Given the description of an element on the screen output the (x, y) to click on. 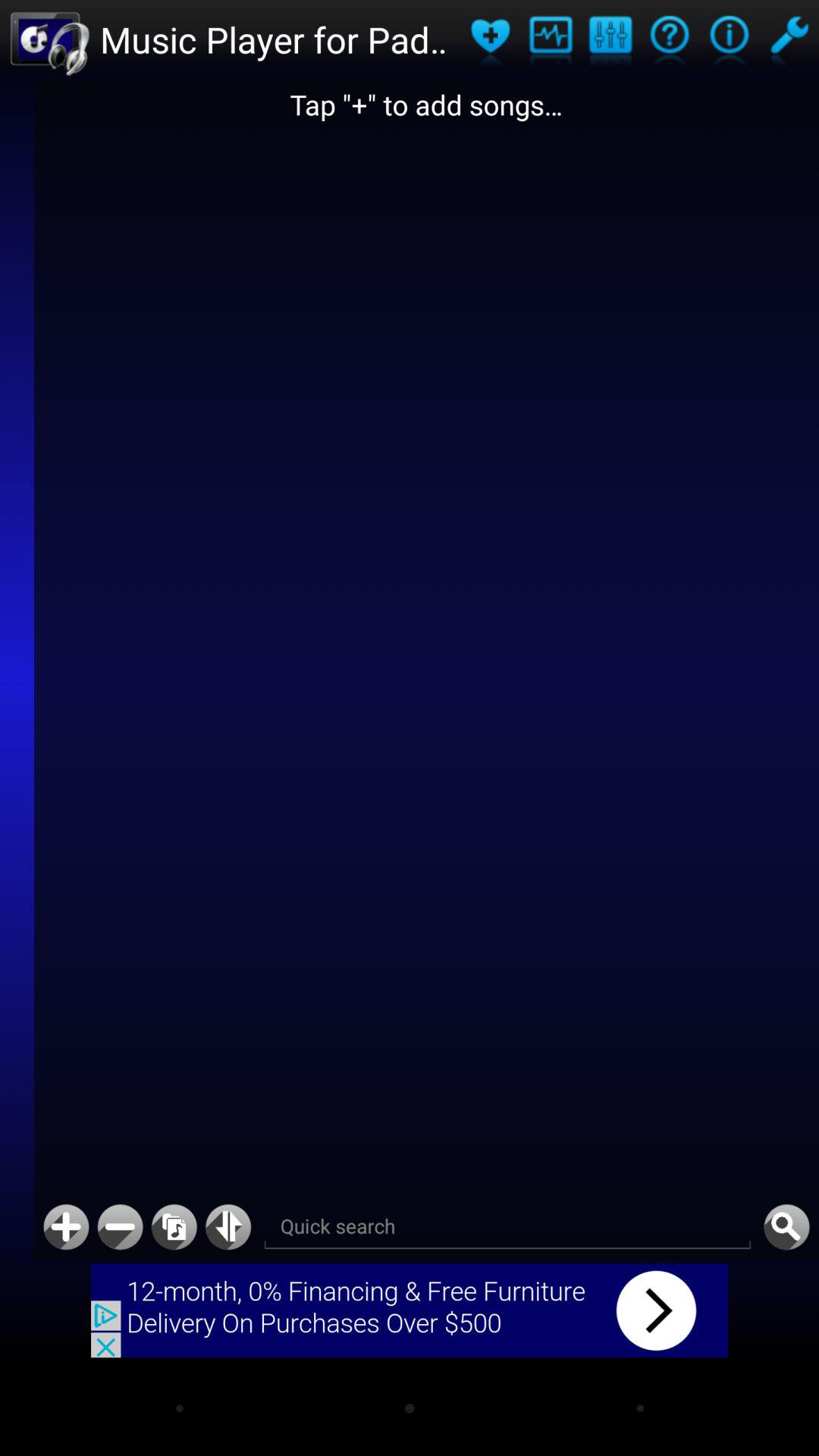
add songs (490, 39)
